Given the description of an element on the screen output the (x, y) to click on. 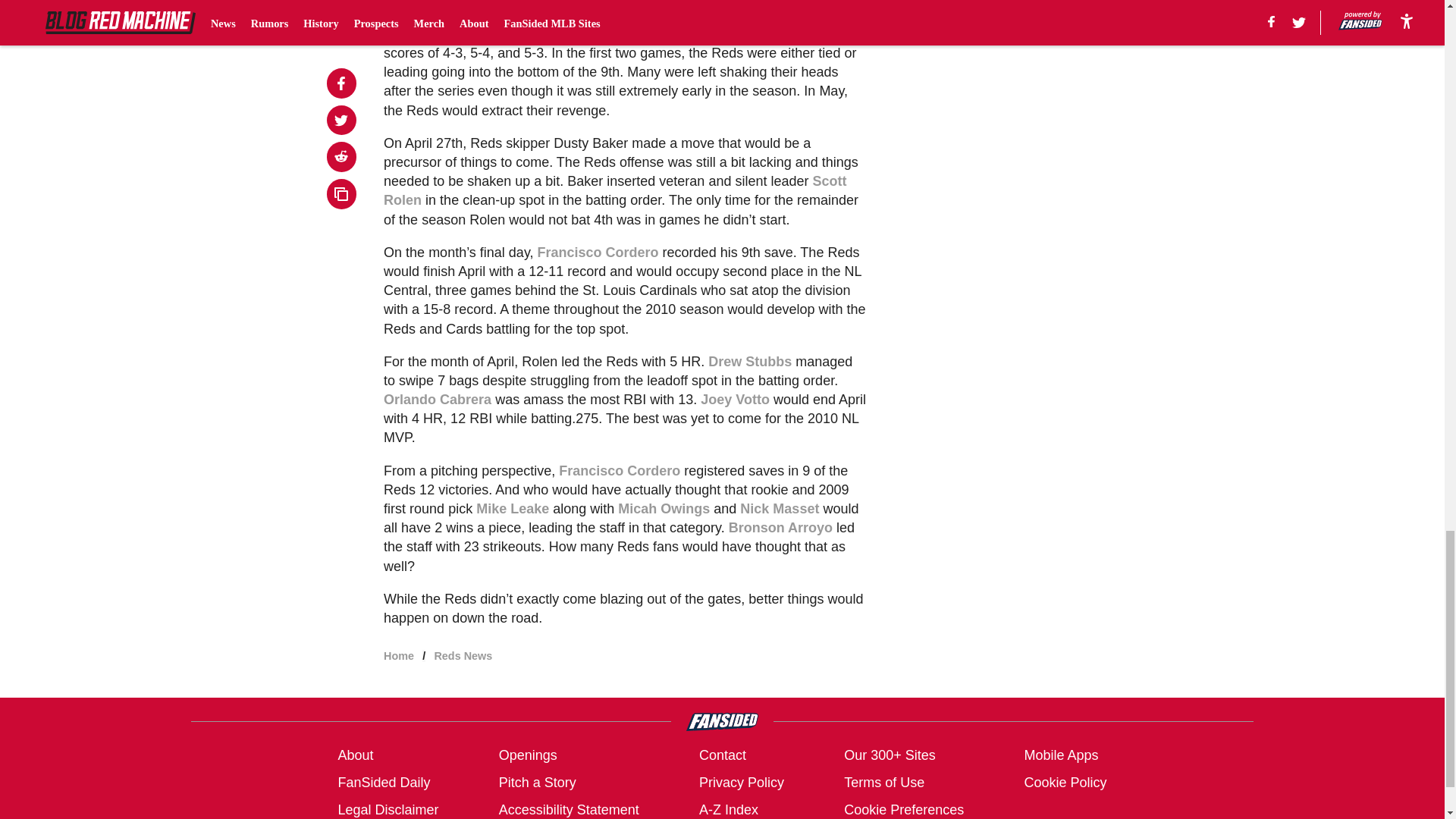
Joey Votto (735, 399)
Orlando Cabrera (438, 399)
Francisco Cordero (619, 470)
Nick Masset (778, 508)
Scott Rolen (614, 190)
Home (398, 655)
Mike Leake (512, 508)
Drew Stubbs (749, 361)
Bronson Arroyo (780, 527)
Francisco Cordero (598, 252)
Micah Owings (663, 508)
